Given the description of an element on the screen output the (x, y) to click on. 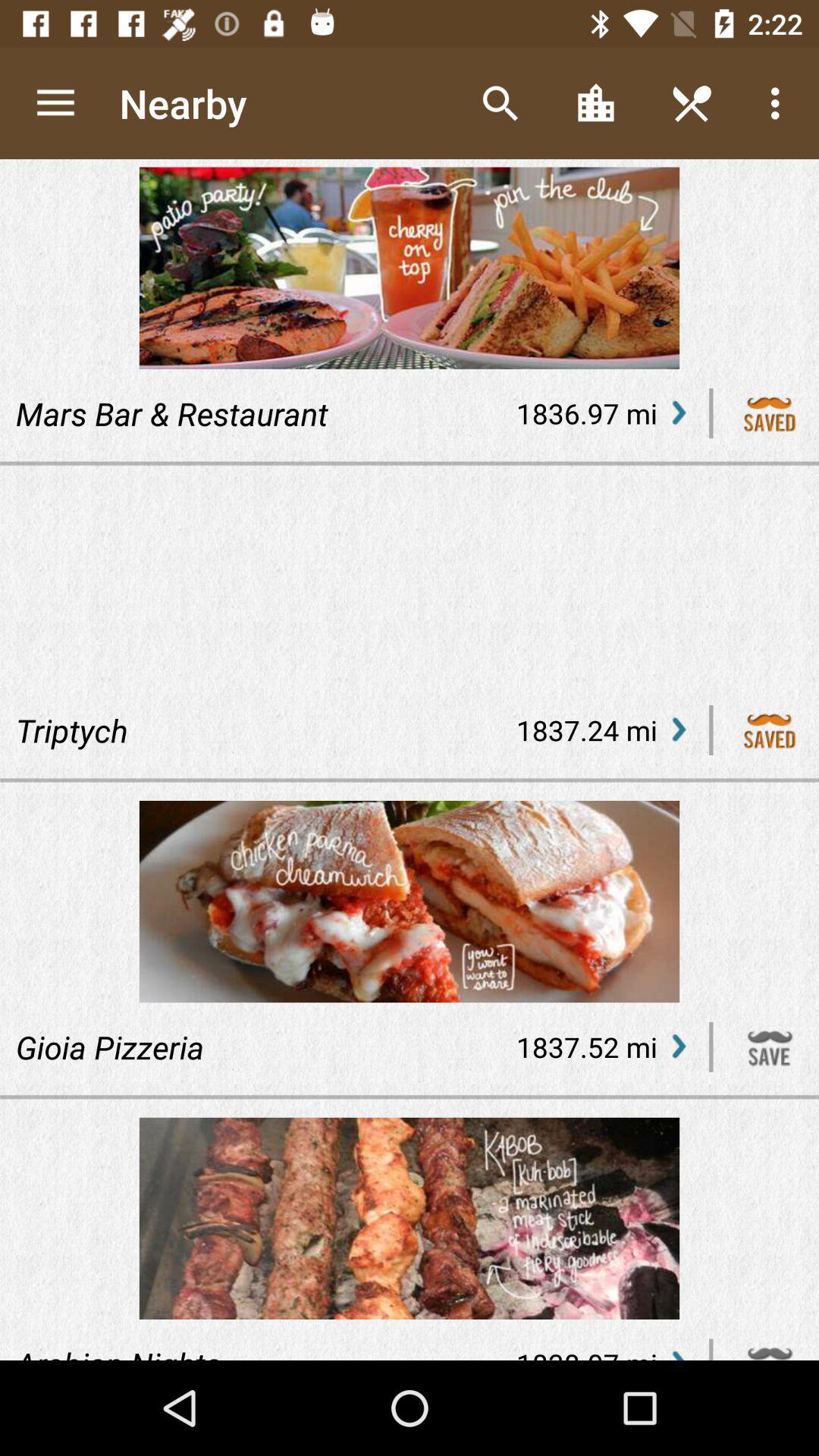
toggle saved restaurant (770, 413)
